Given the description of an element on the screen output the (x, y) to click on. 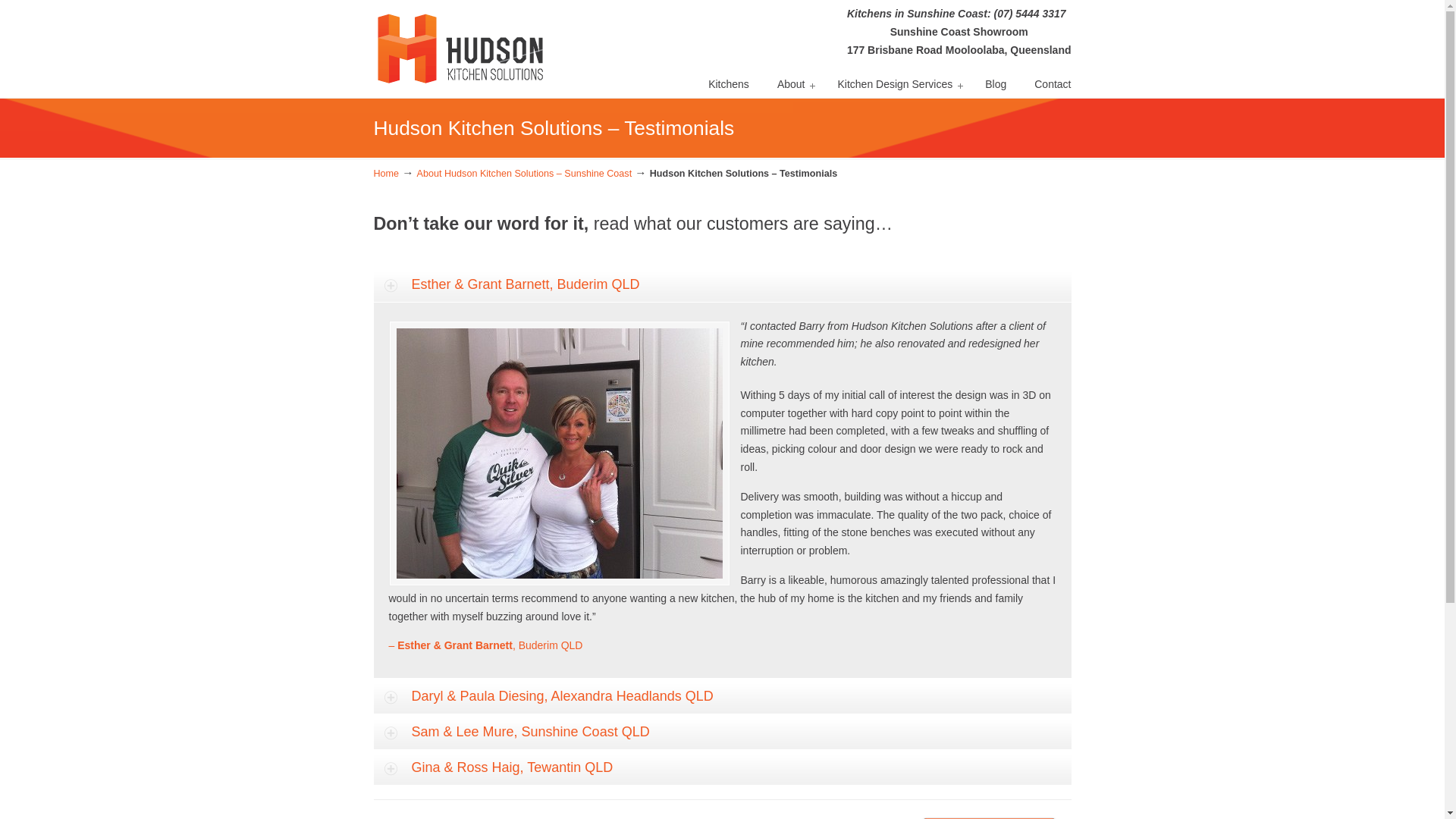
Daryl & Paula Diesing, Alexandra Headlands QLD Element type: text (721, 696)
Sam & Lee Mure, Sunshine Coast QLD Element type: text (721, 731)
Hudson Kitchen Solutions Element type: text (460, 44)
Gina & Ross Haig, Tewantin QLD Element type: text (721, 767)
Esther & Grant Barnett, Buderim QLD Element type: text (721, 284)
Blog Element type: text (995, 84)
Kitchens Element type: text (728, 84)
Home Element type: text (385, 173)
Contact Element type: text (1052, 84)
